Given the description of an element on the screen output the (x, y) to click on. 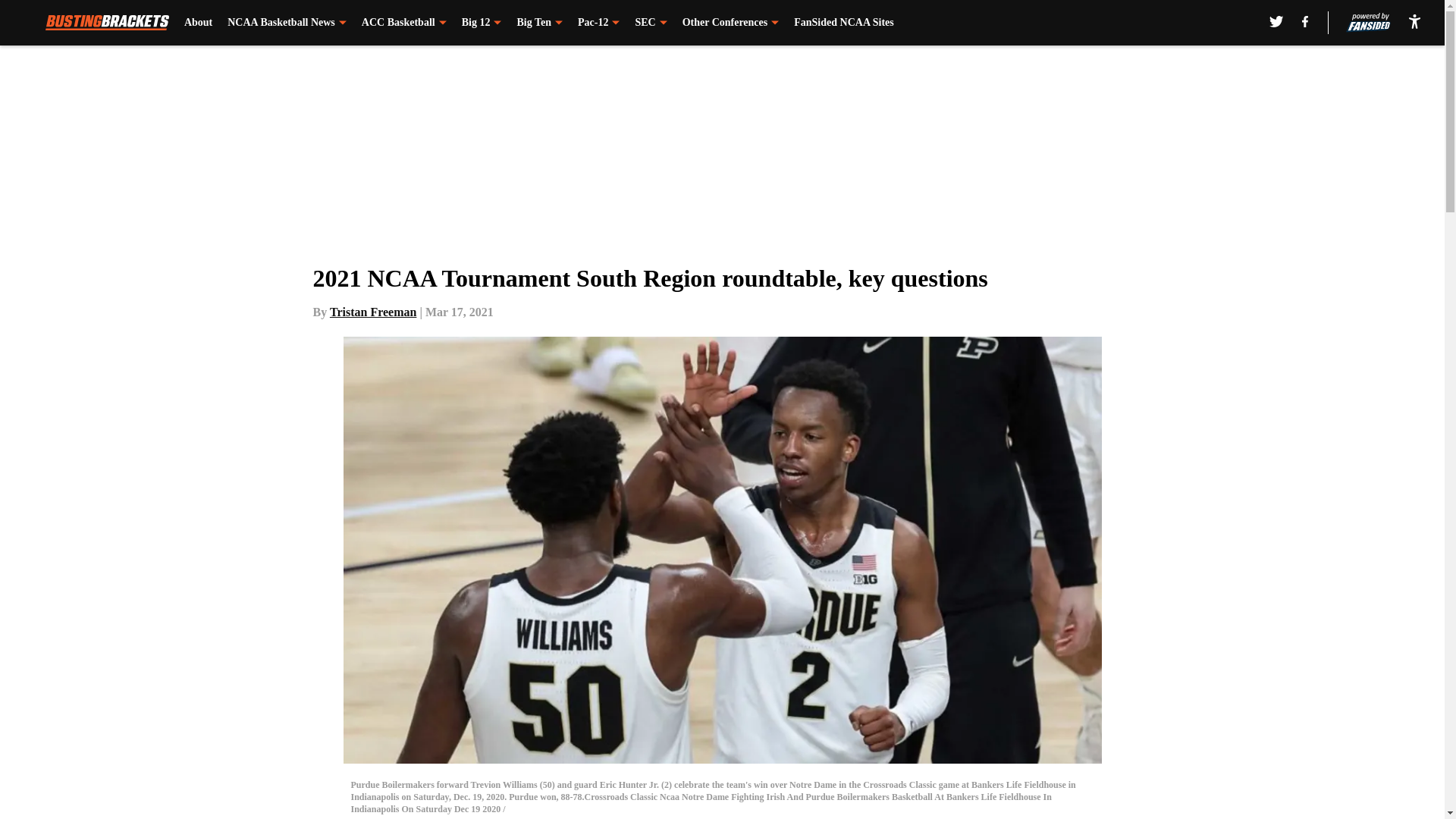
About (198, 22)
